Given the description of an element on the screen output the (x, y) to click on. 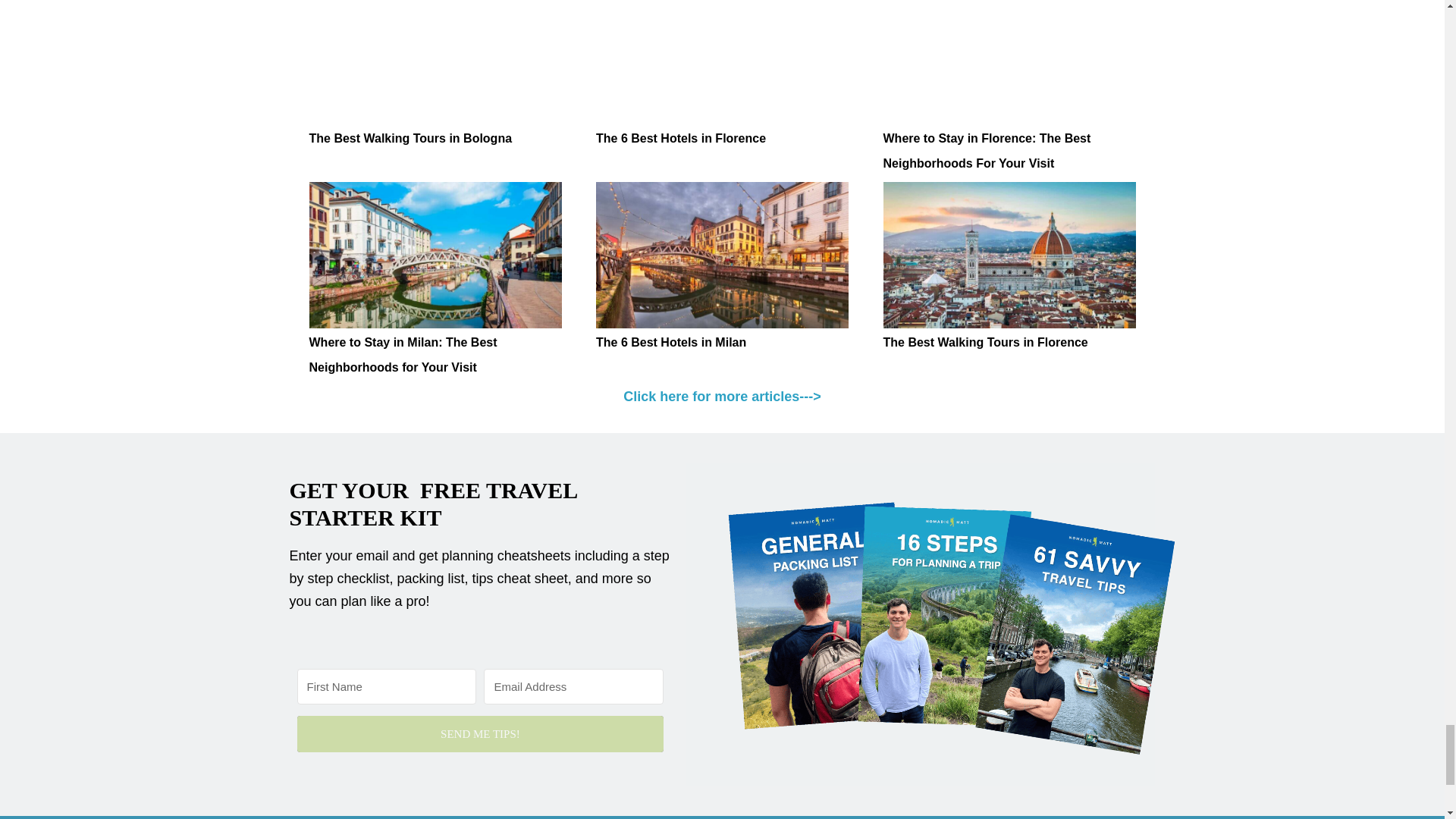
The 6 Best Hotels in Florence (680, 137)
The 6 Best Hotels in Milan (670, 341)
The Best Walking Tours in Bologna (410, 137)
The Best Walking Tours in Florence (1008, 254)
The Best Walking Tours in Florence (984, 341)
The Best Walking Tours in Bologna (435, 62)
The 6 Best Hotels in Milan (721, 254)
The 6 Best Hotels in Florence (721, 62)
